Given the description of an element on the screen output the (x, y) to click on. 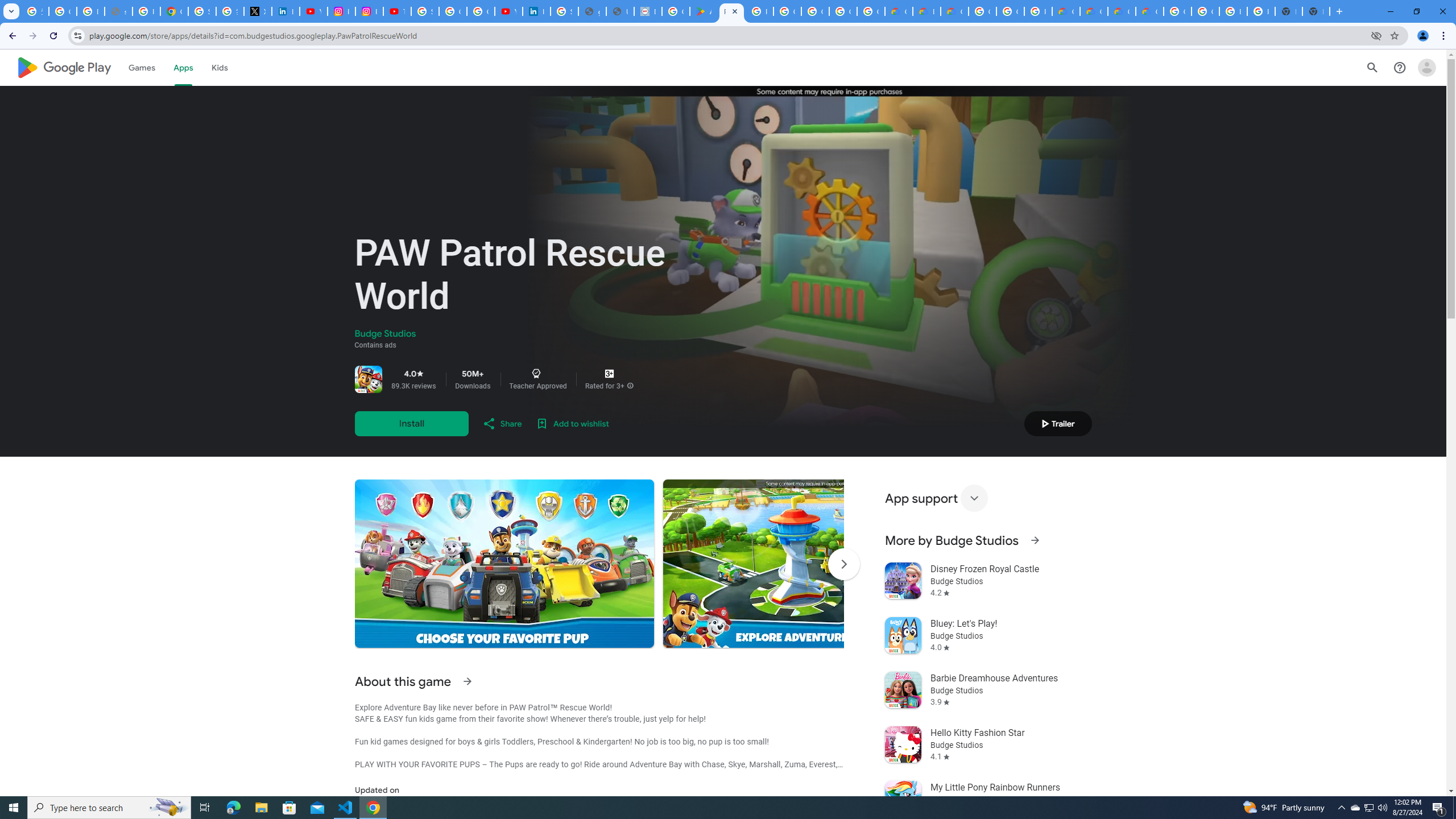
More info about this content rating (630, 385)
Google Play logo (64, 67)
New Tab (1316, 11)
Gemini for Business and Developers | Google Cloud (955, 11)
Google Cloud Service Health (1150, 11)
Data Privacy Framework (647, 11)
Sign in - Google Accounts (425, 11)
Google Cloud Platform (982, 11)
